Given the description of an element on the screen output the (x, y) to click on. 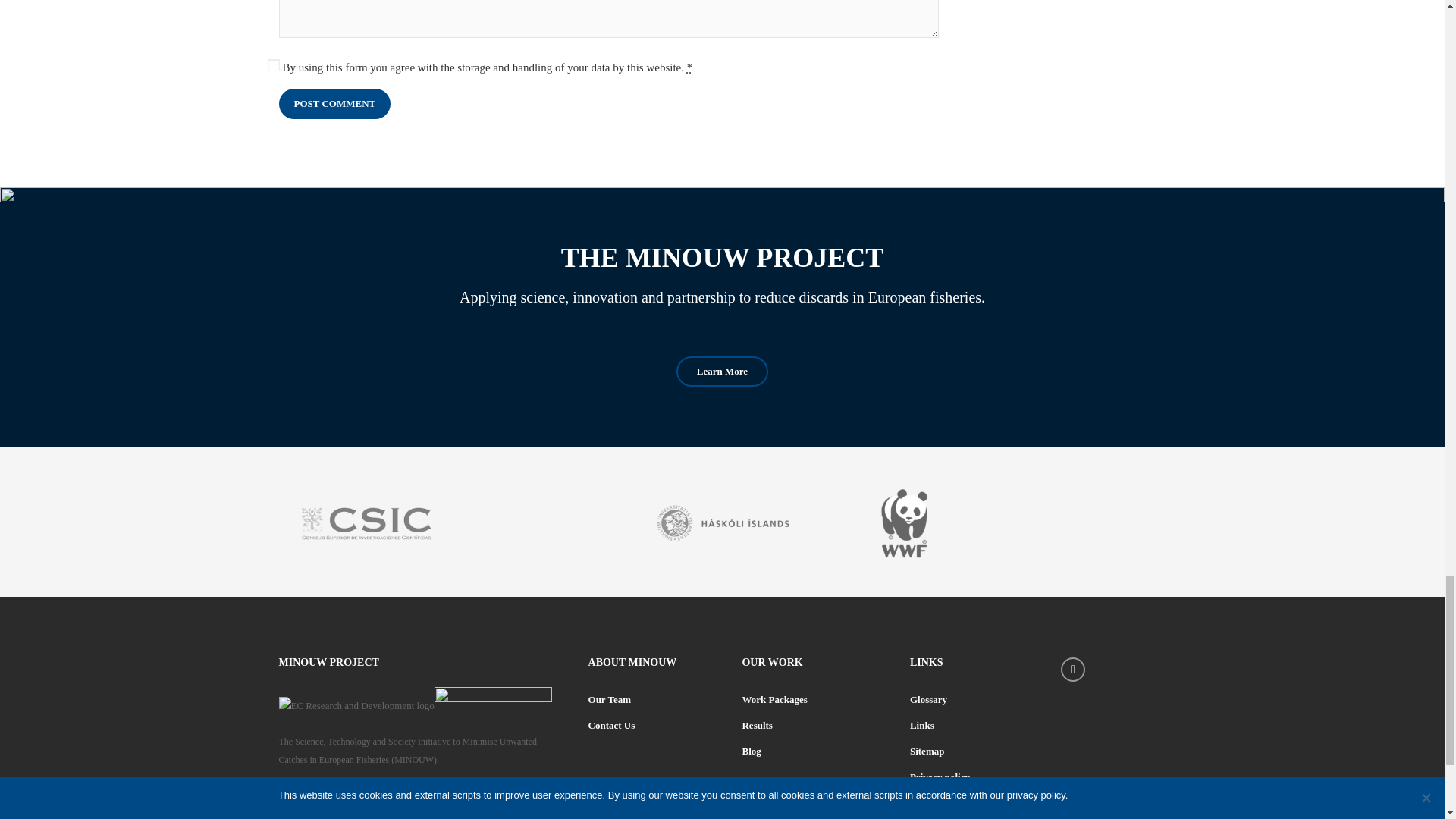
You need to accept this checkbox (690, 67)
1 (272, 64)
Post Comment (335, 103)
